Given the description of an element on the screen output the (x, y) to click on. 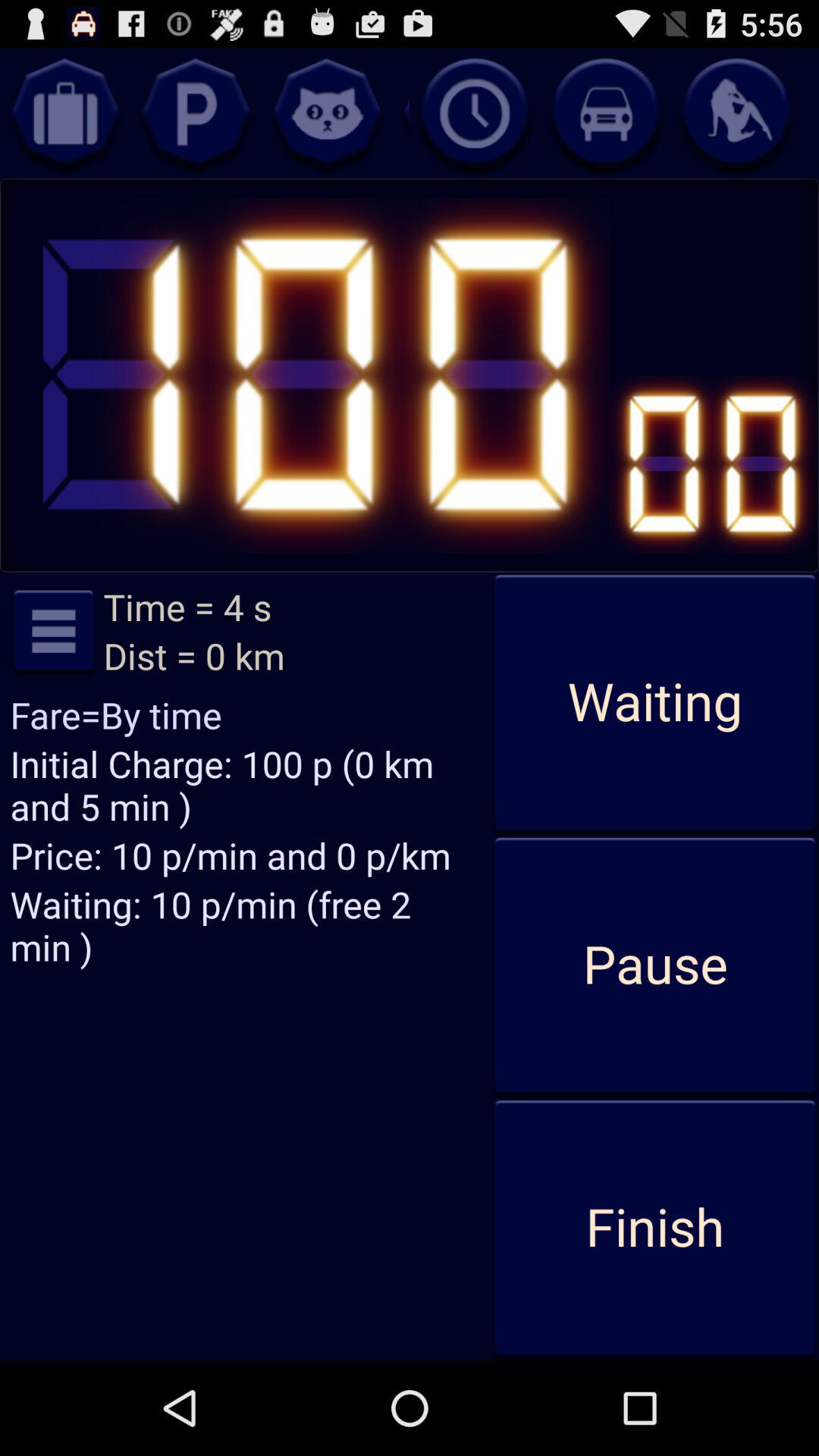
loog (195, 112)
